Given the description of an element on the screen output the (x, y) to click on. 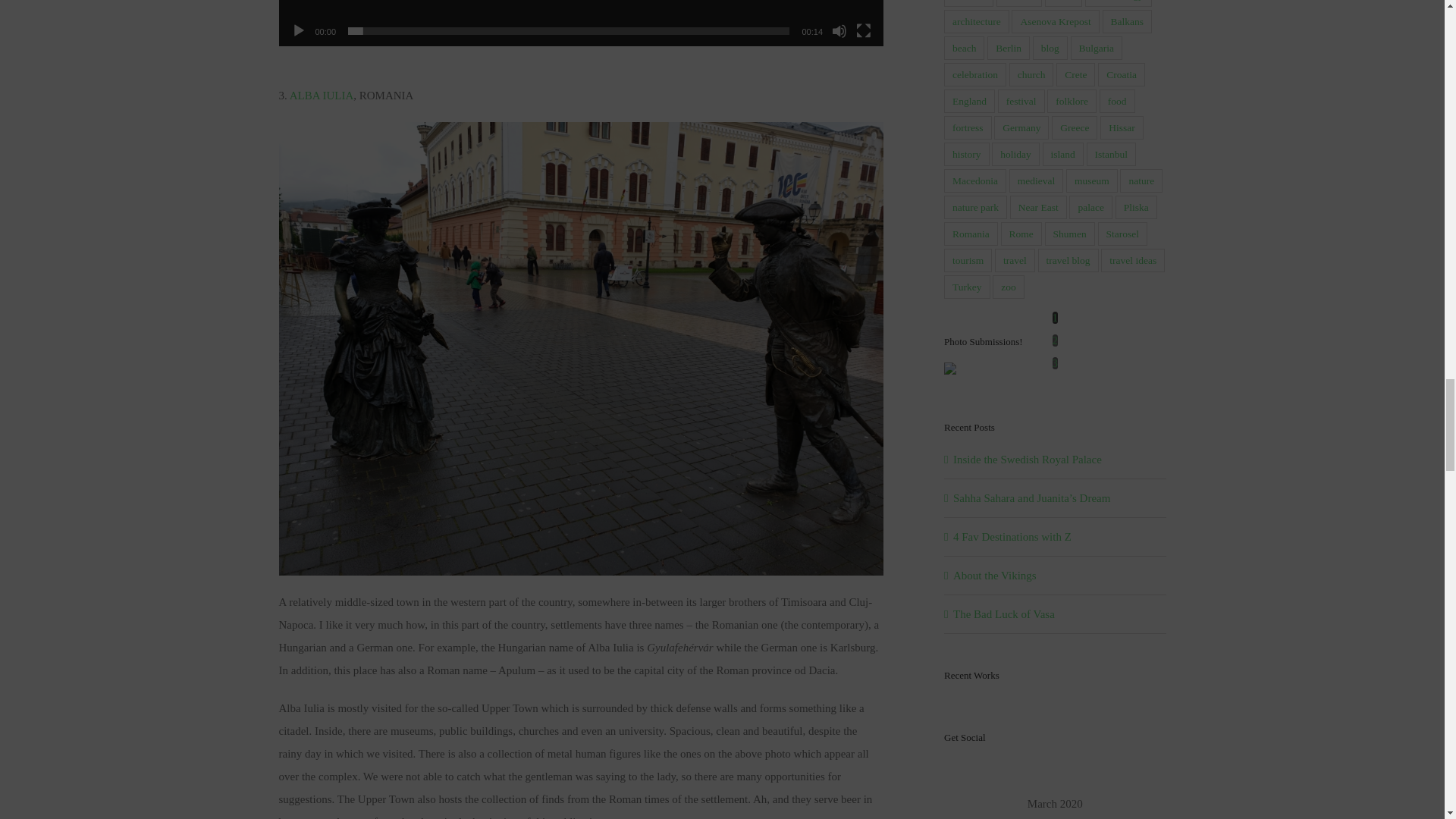
Fullscreen (863, 30)
Mute (839, 30)
ALBA IULIA (321, 95)
Play (298, 30)
